Given the description of an element on the screen output the (x, y) to click on. 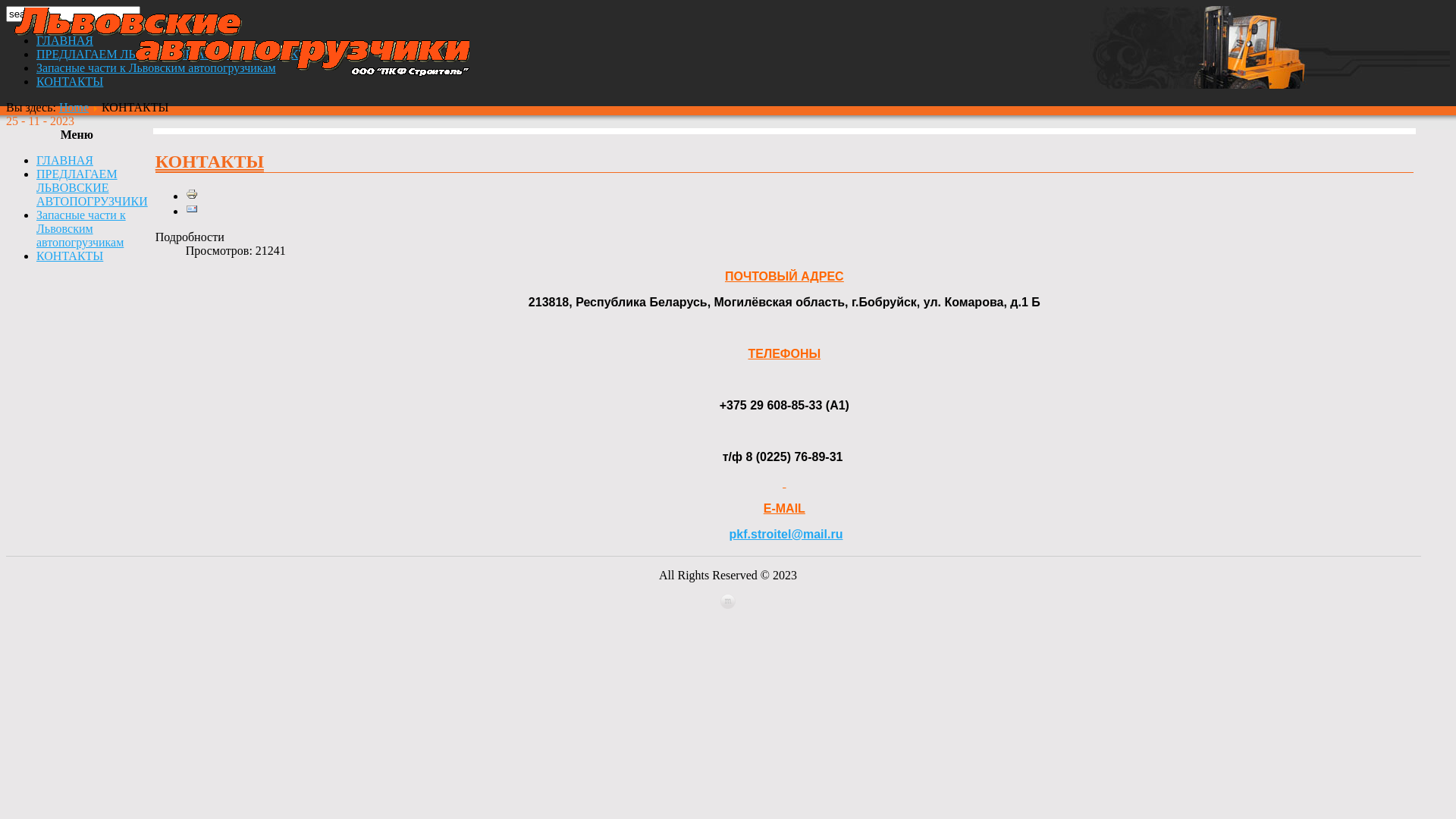
E-mail Element type: hover (191, 210)
Home Element type: text (73, 106)
pkf.stroitel@mail.ru Element type: text (786, 533)
design by mambasana.ru Element type: hover (727, 604)
